Given the description of an element on the screen output the (x, y) to click on. 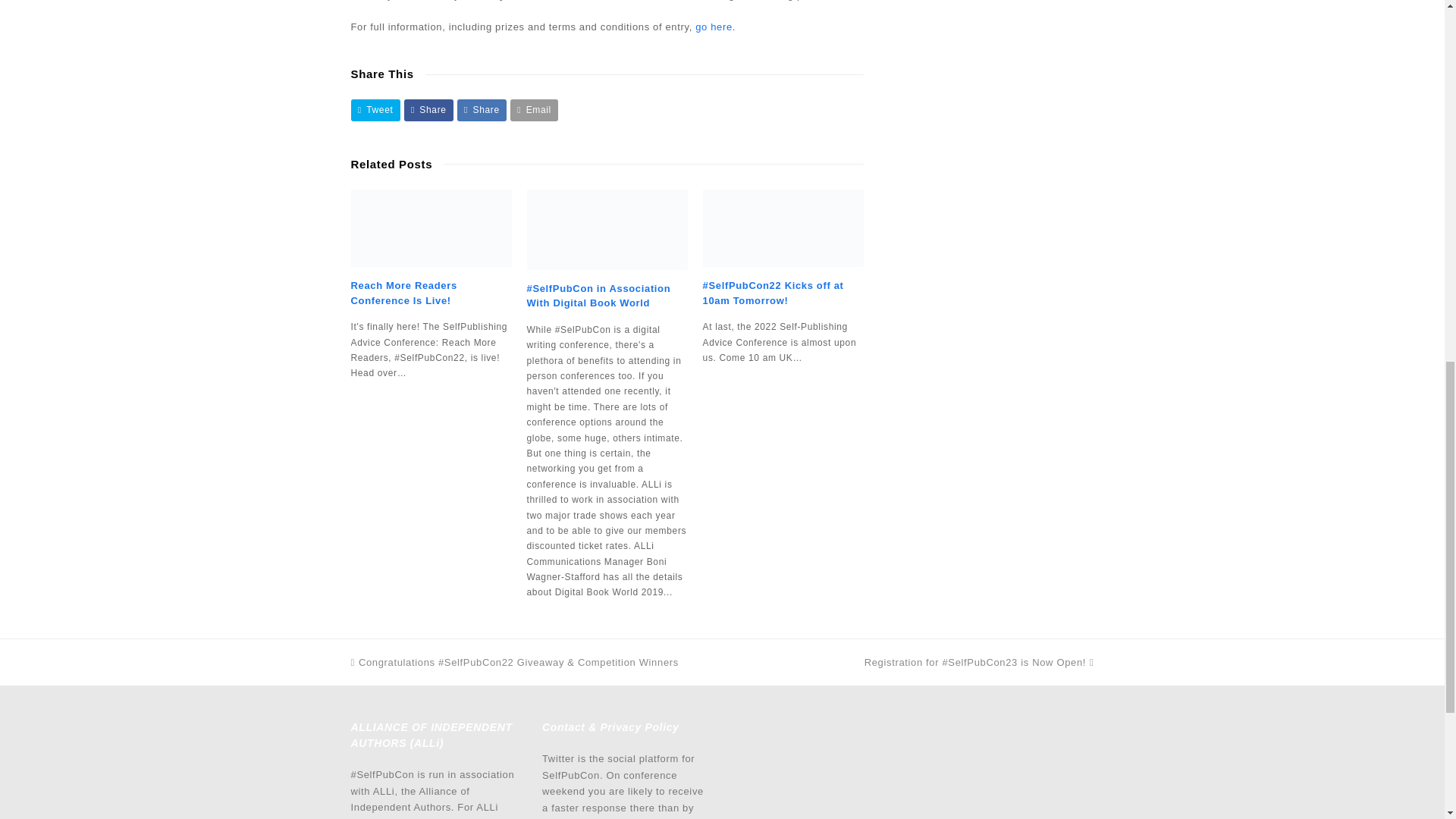
Tweet (374, 110)
Reach More Readers Conference Is Live! (430, 227)
Email (534, 110)
Share (481, 110)
go here. (715, 26)
Reach More Readers Conference Is Live! (403, 293)
Share (428, 110)
